Given the description of an element on the screen output the (x, y) to click on. 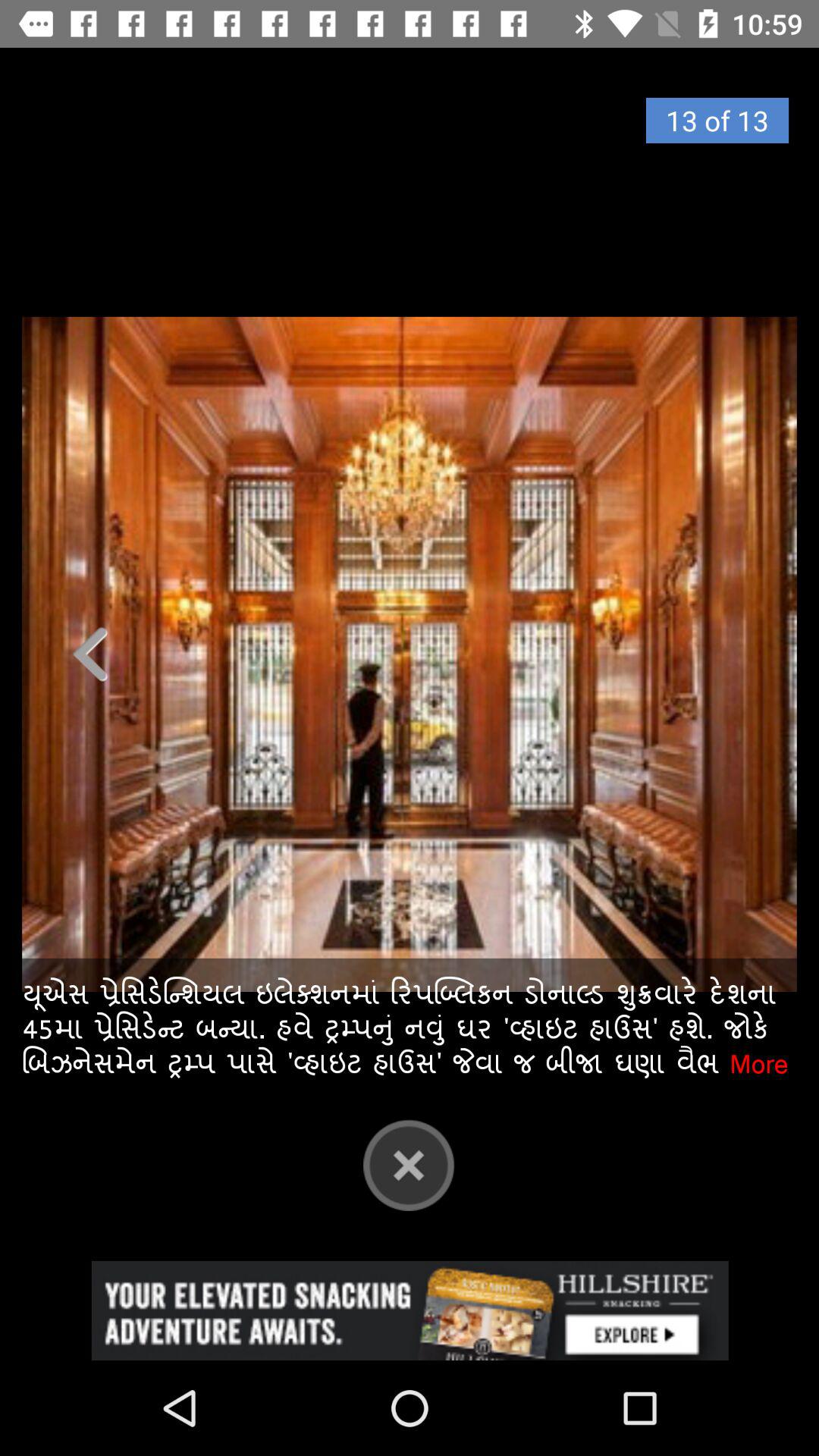
open app (409, 1310)
